Given the description of an element on the screen output the (x, y) to click on. 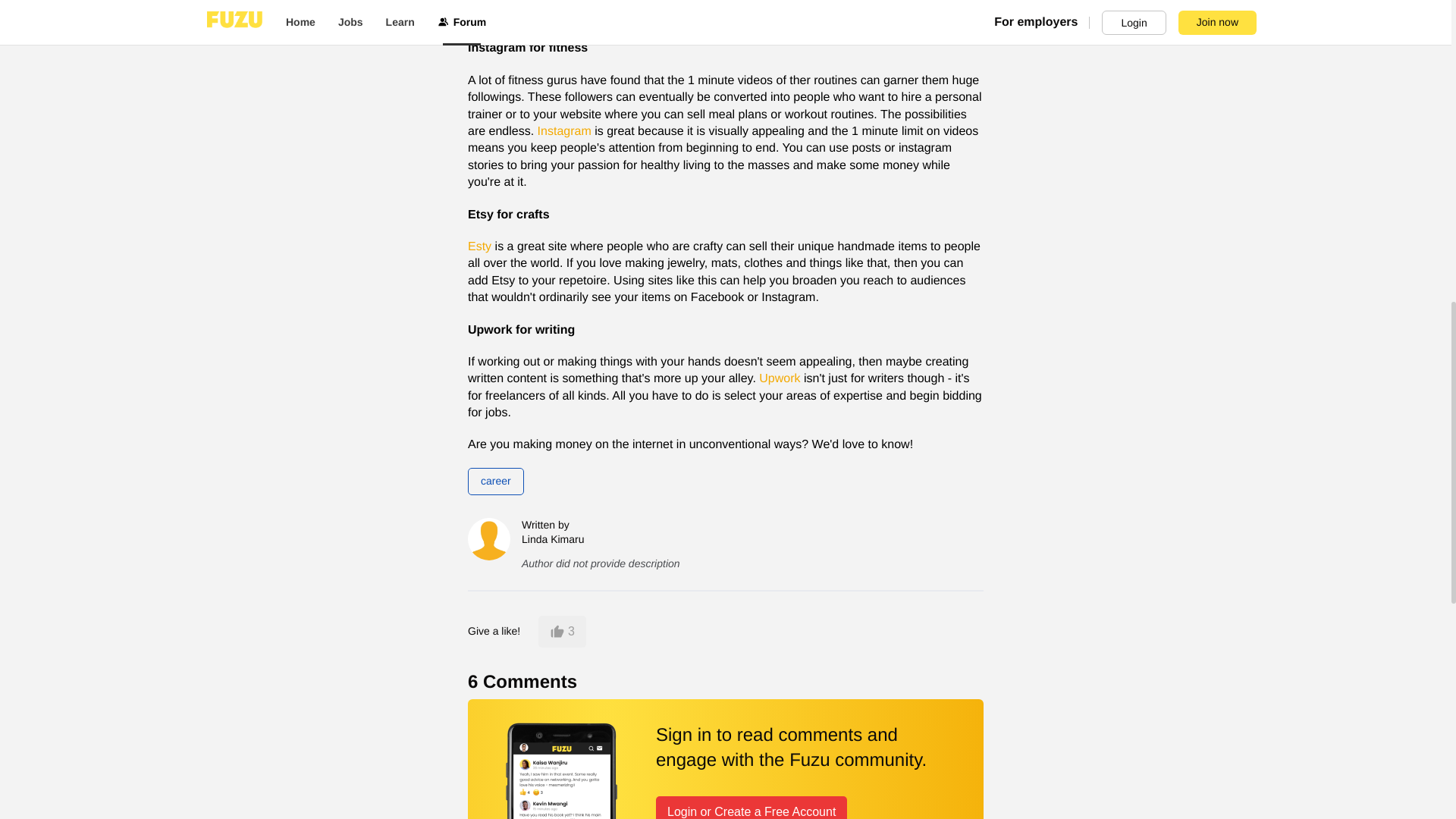
Upwork (778, 379)
Login or Create a Free Account (751, 807)
Instagram (564, 131)
3 (562, 631)
career (495, 481)
Esty (479, 247)
